Given the description of an element on the screen output the (x, y) to click on. 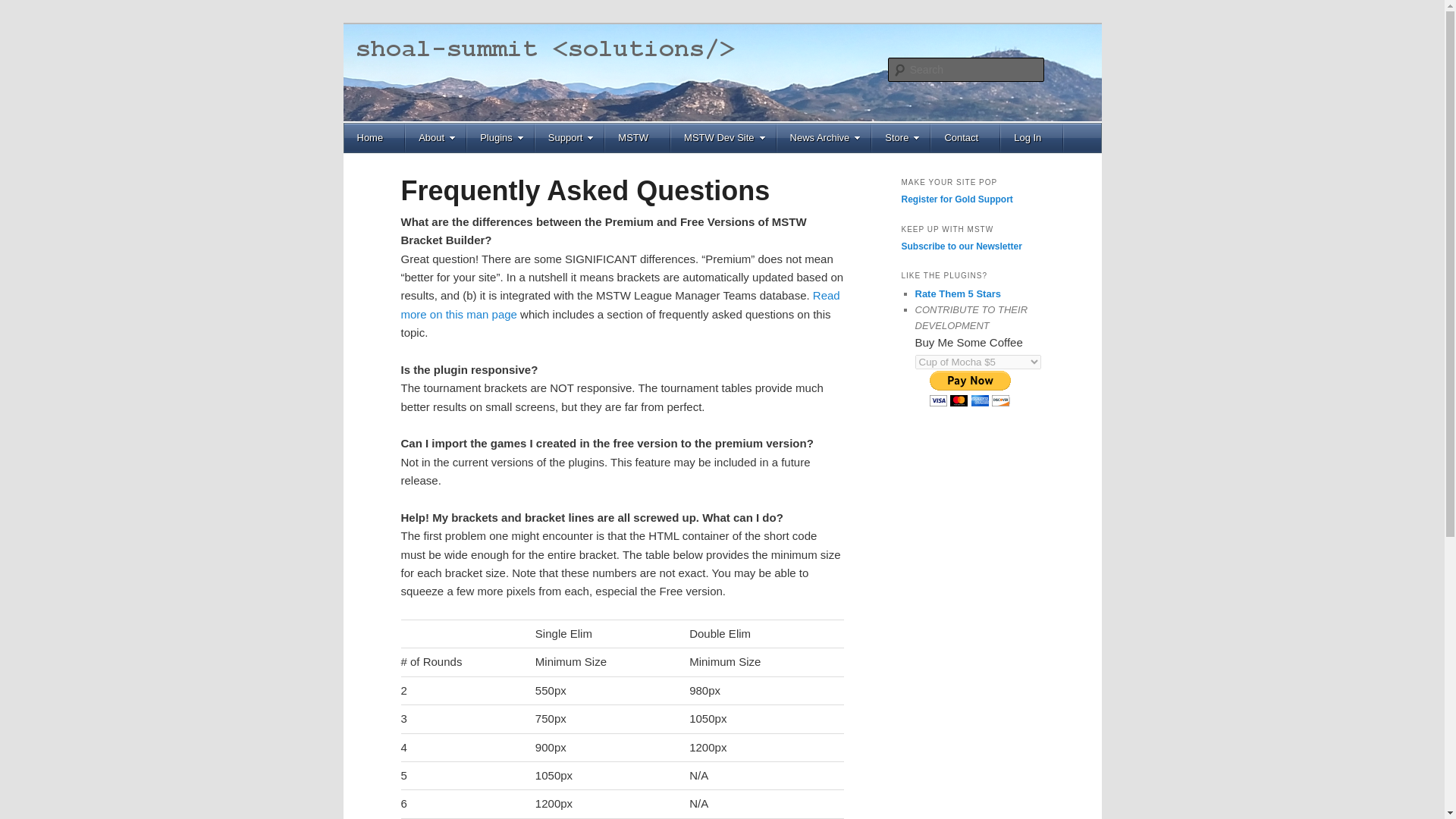
Skip to secondary content (421, 184)
Home (374, 137)
Search (24, 8)
About (436, 137)
Sign-up For Support (956, 199)
Skip to primary content (414, 184)
Shoal Summit Solutions (531, 78)
Plugins (501, 137)
Shoal Summit Solutions (531, 78)
